Given the description of an element on the screen output the (x, y) to click on. 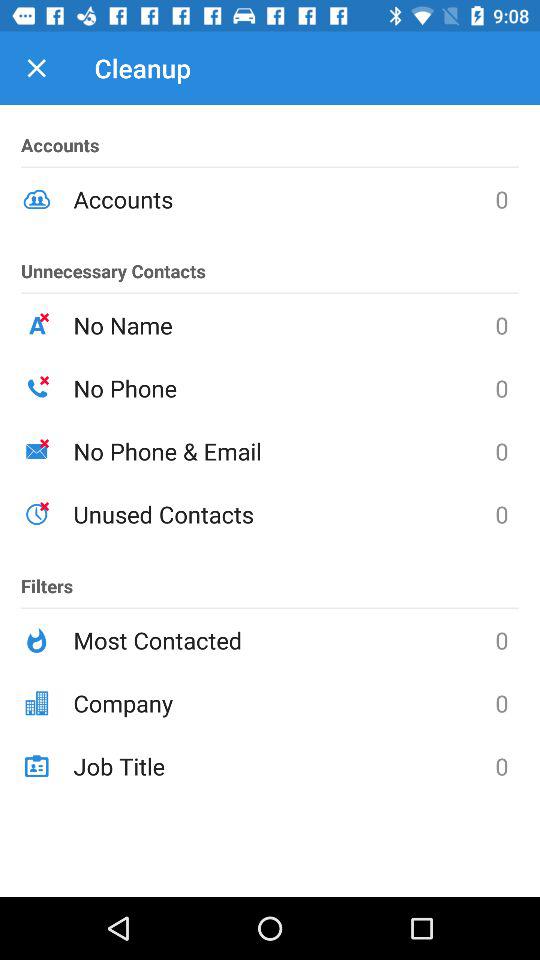
select the icon to the left of unused contacts (47, 577)
